Given the description of an element on the screen output the (x, y) to click on. 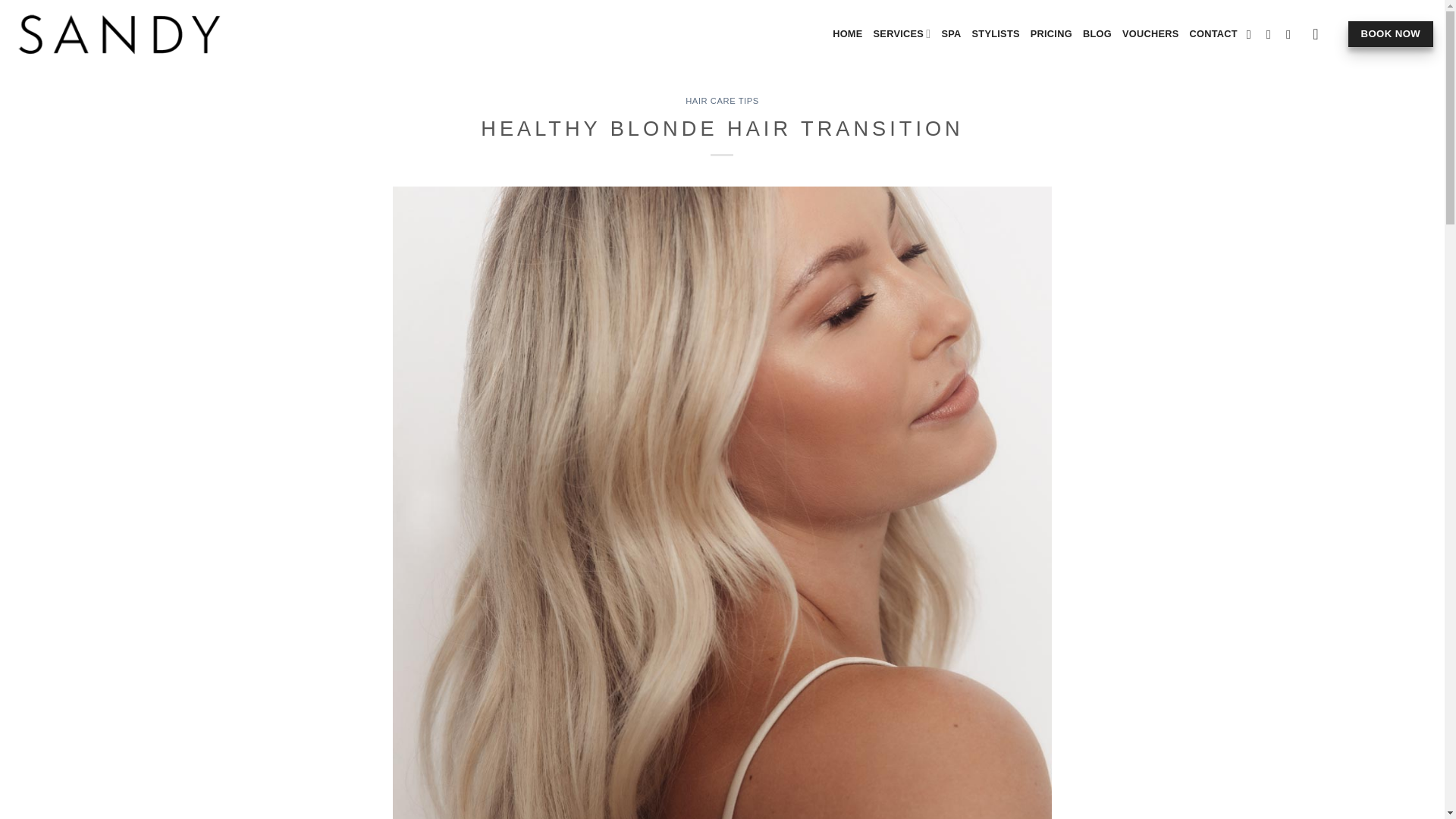
BOOK NOW (1390, 33)
CONTACT (1212, 33)
Follow on Instagram (1272, 33)
SERVICES (902, 33)
VOUCHERS (1150, 33)
STYLISTS (996, 33)
HAIR CARE TIPS (721, 100)
BLOG (1097, 33)
Send us an email (1291, 33)
